Given the description of an element on the screen output the (x, y) to click on. 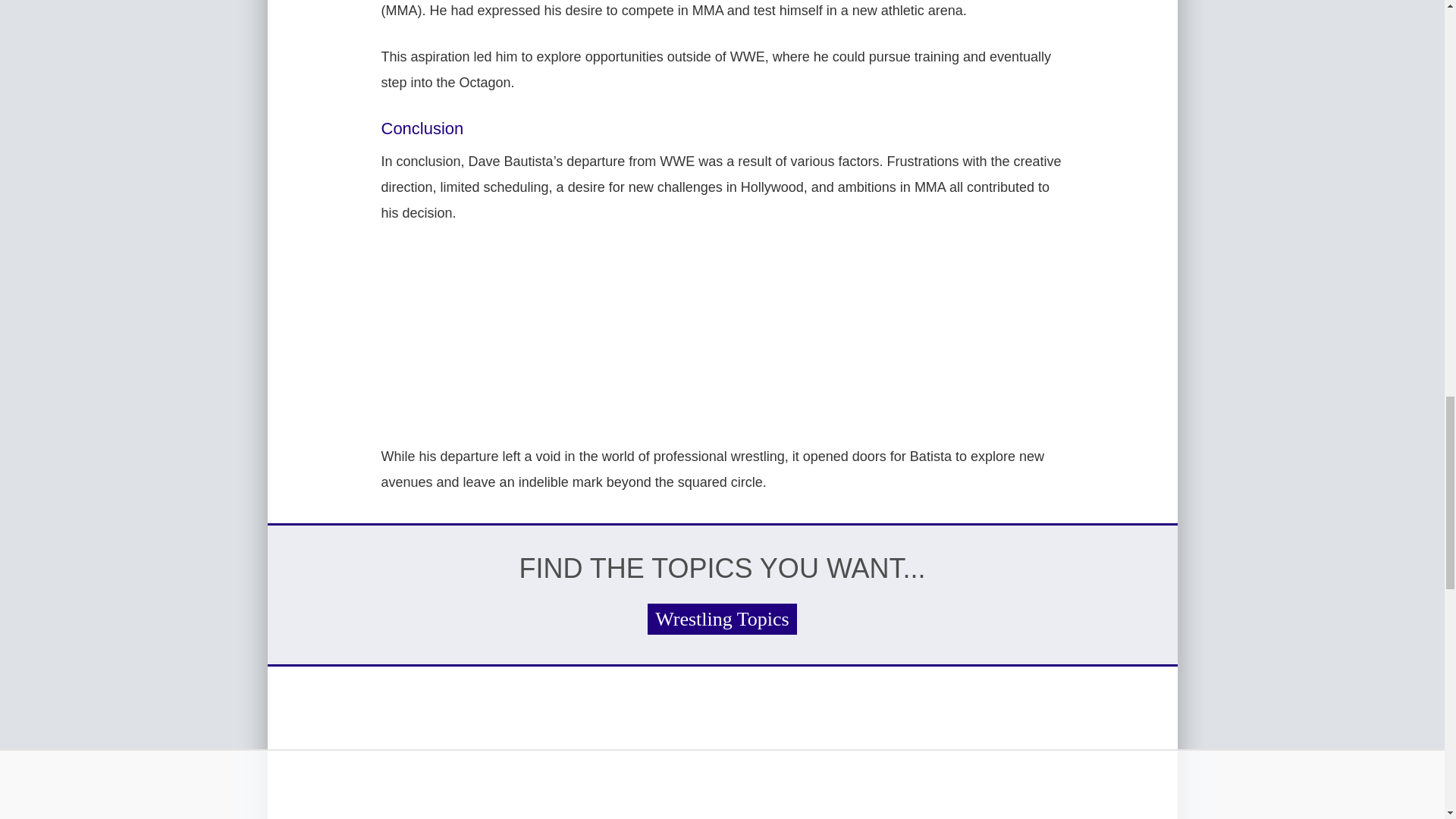
View all posts in Wrestling Topics (721, 618)
